Given the description of an element on the screen output the (x, y) to click on. 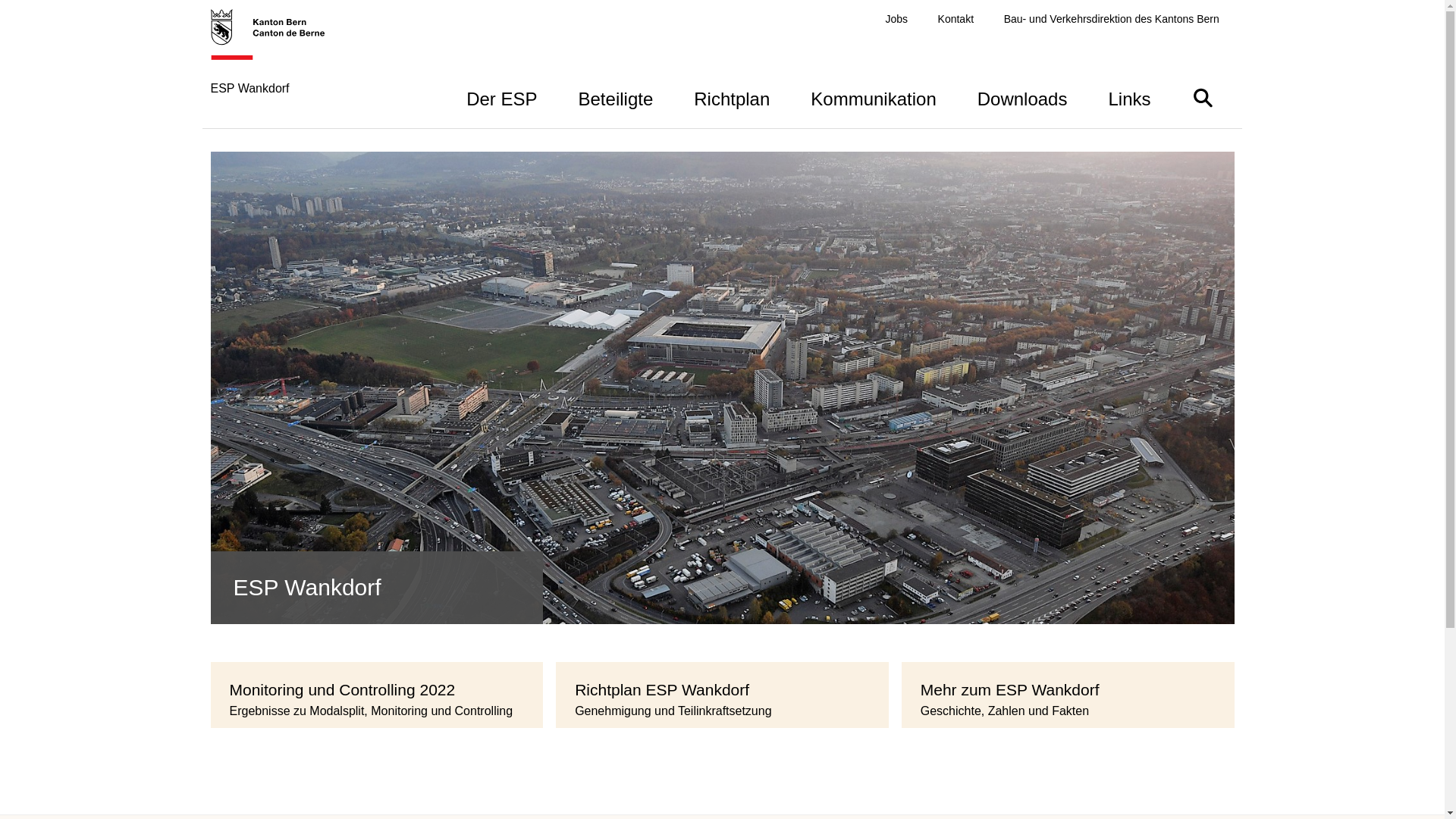
Mehr zum ESP Wankdorf
Geschichte, Zahlen und Fakten Element type: text (1067, 695)
Kommunikation Element type: text (873, 96)
Links Element type: text (1128, 96)
ESP Wankdorf Element type: text (275, 68)
Suche ein- oder ausblenden Element type: text (1201, 96)
Jobs Element type: text (895, 19)
Richtplan ESP Wankdorf
Genehmigung und Teilinkraftsetzung Element type: text (721, 695)
Bau- und Verkehrsdirektion des Kantons Bern Element type: text (1111, 19)
Kontakt Element type: text (955, 19)
Downloads Element type: text (1022, 96)
Der ESP Element type: text (501, 96)
Beteiligte Element type: text (616, 96)
Richtplan Element type: text (731, 96)
